Given the description of an element on the screen output the (x, y) to click on. 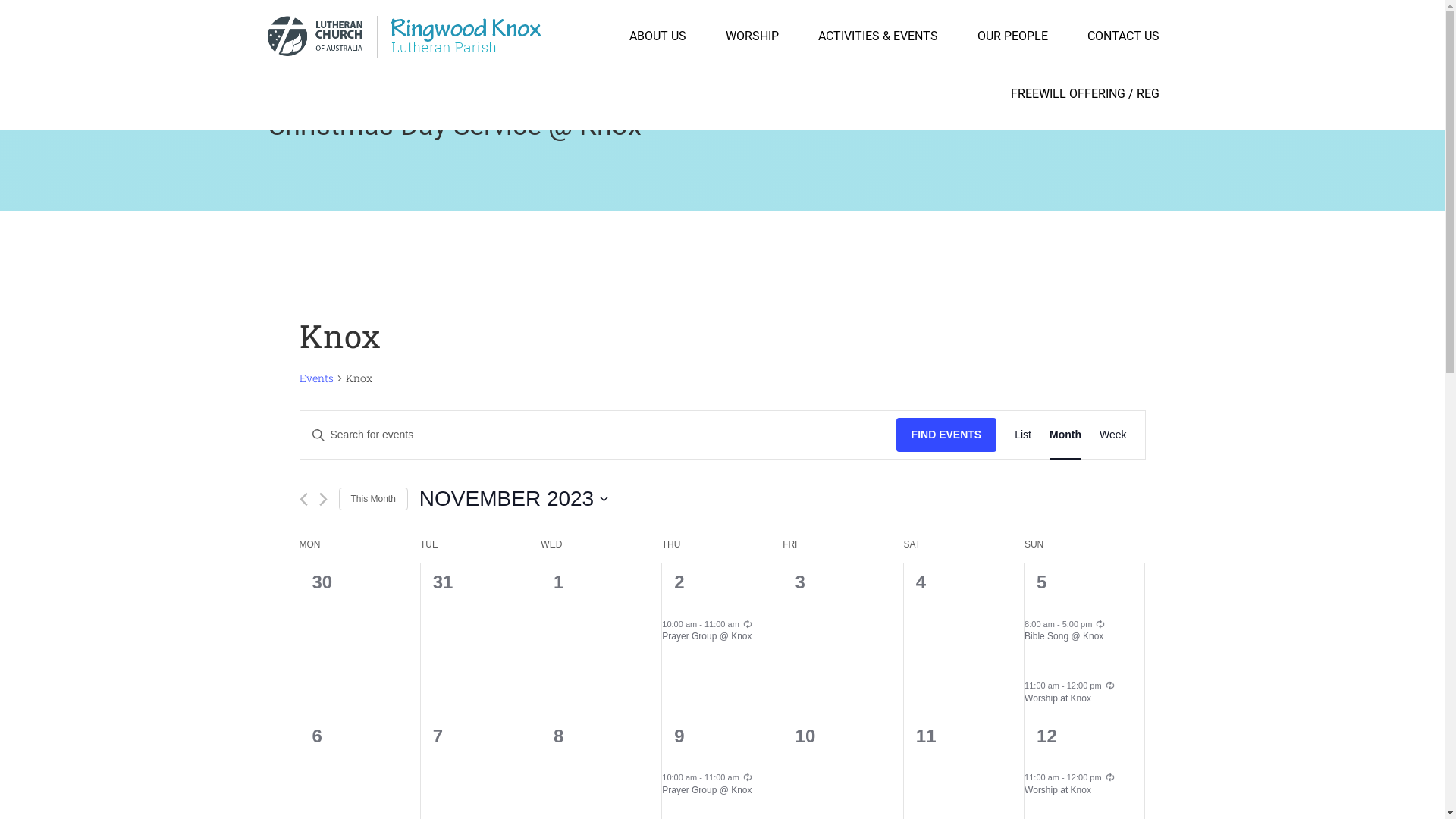
Week Element type: text (1112, 434)
This Month Element type: text (372, 499)
Recurring Element type: text (747, 776)
Previous month Element type: hover (302, 498)
Prayer Group @ Knox Element type: text (706, 790)
Recurring Element type: text (1109, 685)
Worship at Knox Element type: text (1057, 790)
RINGWOOD KNOX LUTHERAN PARISH Element type: text (402, 36)
NOVEMBER 2023 Element type: text (513, 498)
FIND EVENTS Element type: text (946, 434)
OUR PEOPLE Element type: text (1011, 36)
ACTIVITIES & EVENTS Element type: text (877, 36)
FREEWILL OFFERING / REG Element type: text (1083, 93)
Month Element type: text (1065, 434)
9 Element type: text (679, 735)
Prayer Group @ Knox Element type: text (706, 636)
List Element type: text (1022, 434)
2 Element type: text (679, 581)
Recurring Element type: text (1109, 776)
CONTACT US Element type: text (1123, 36)
Christmas Day Service @ Knox Element type: text (453, 125)
Bible Song @ Knox Element type: text (1063, 636)
Worship at Knox Element type: text (1057, 698)
12 Element type: text (1046, 735)
Recurring Element type: text (1099, 623)
Next month Element type: hover (322, 498)
Skip to main content Element type: text (0, 0)
WORSHIP Element type: text (751, 36)
Events Element type: text (315, 378)
ABOUT US Element type: text (657, 36)
5 Element type: text (1041, 581)
Recurring Element type: text (747, 623)
